Given the description of an element on the screen output the (x, y) to click on. 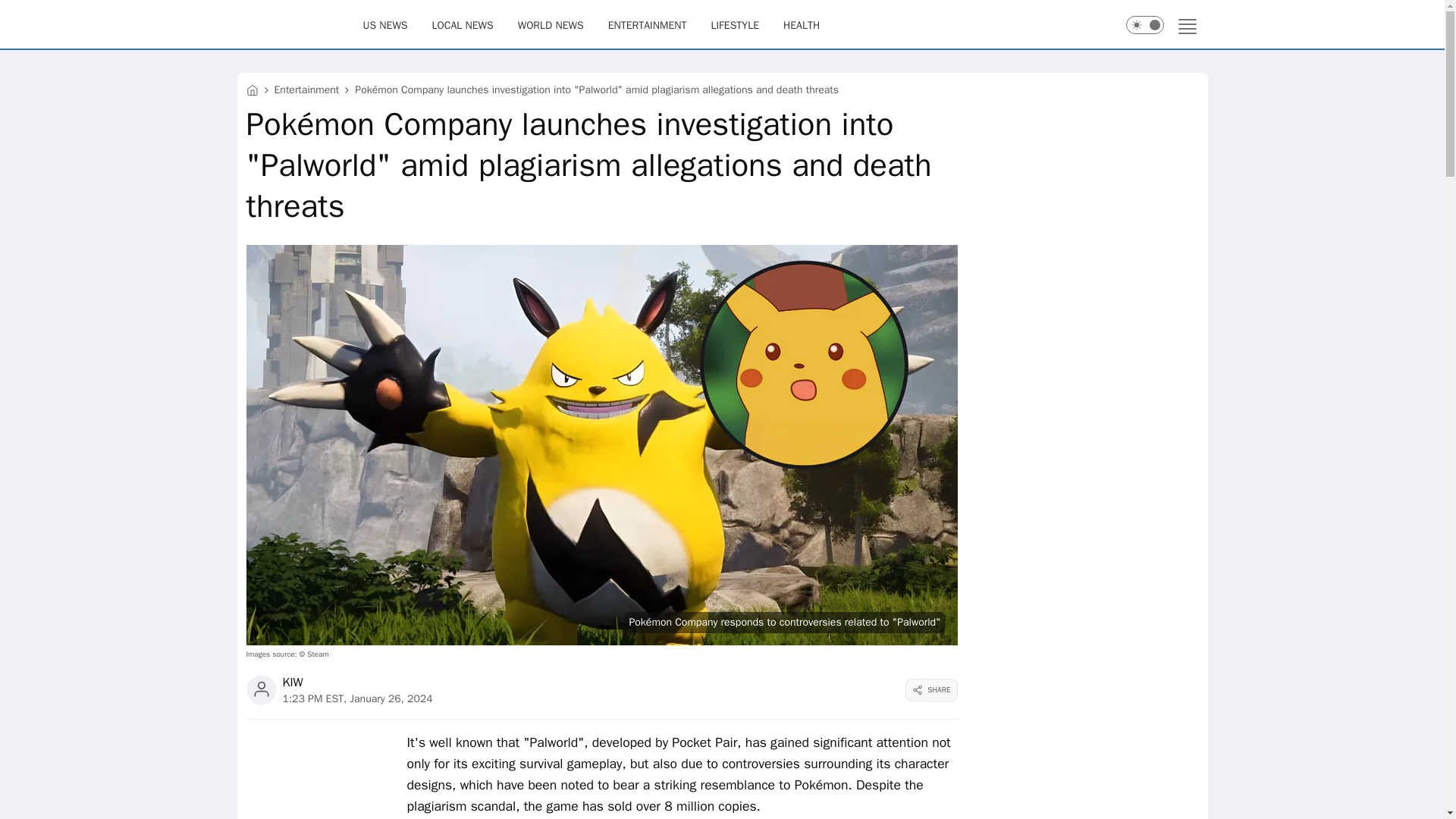
US NEWS (384, 24)
Homepage (298, 24)
ENTERTAINMENT (647, 24)
LIFESTYLE (734, 24)
KIW (292, 682)
HEALTH (801, 24)
LOCAL NEWS (462, 24)
essanews.com (251, 89)
WORLD NEWS (550, 24)
Entertainment (307, 89)
KIW (292, 682)
SHARE (930, 689)
Entertainment (307, 89)
